Given the description of an element on the screen output the (x, y) to click on. 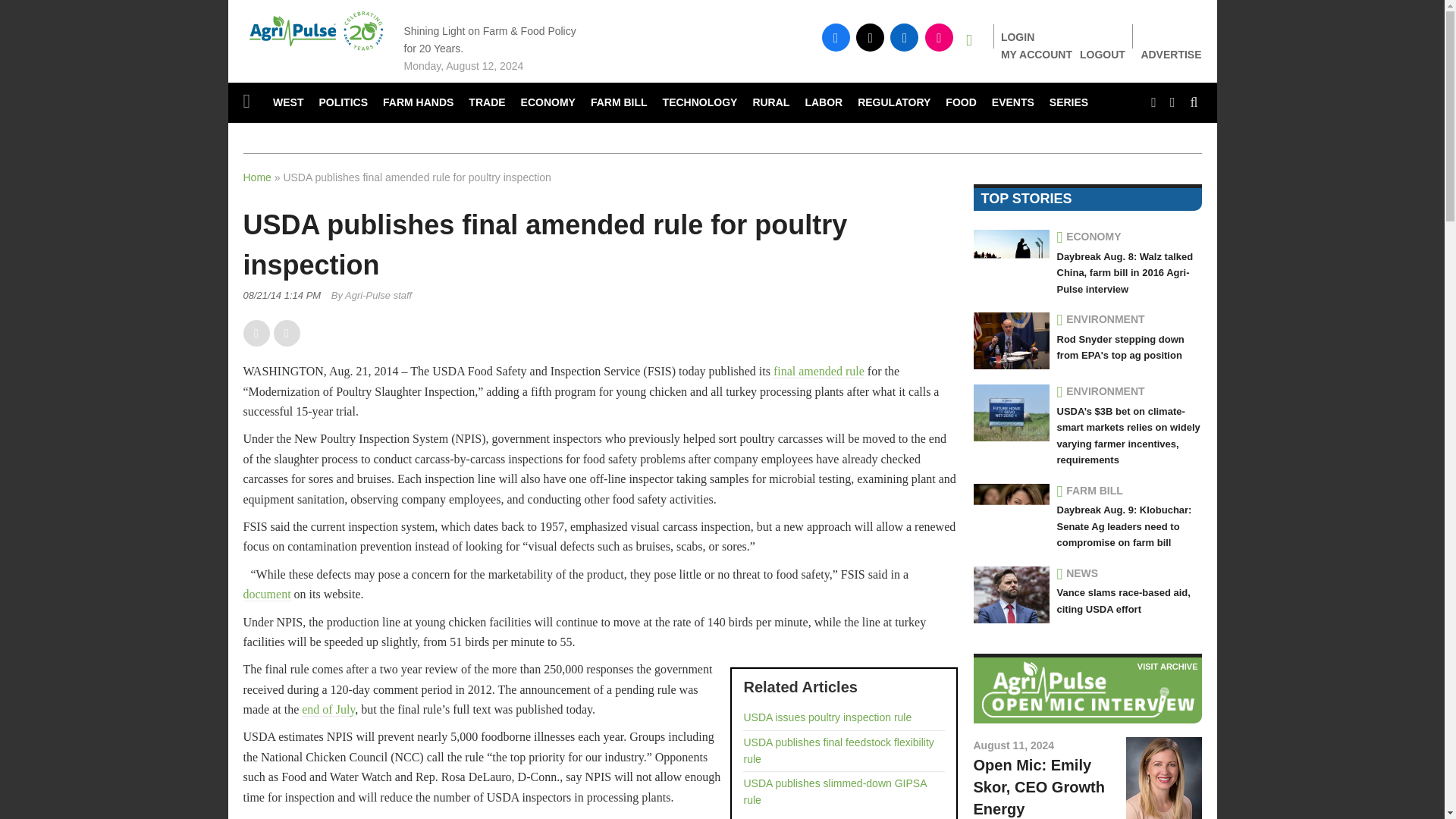
TECHNOLOGY (700, 102)
FOOD (960, 102)
WEST (287, 102)
REGULATORY (893, 102)
ECONOMY (548, 102)
LABOR (823, 102)
LOGIN (1017, 37)
LOGOUT (1102, 54)
RURAL (770, 102)
MY ACCOUNT (1036, 54)
